Given the description of an element on the screen output the (x, y) to click on. 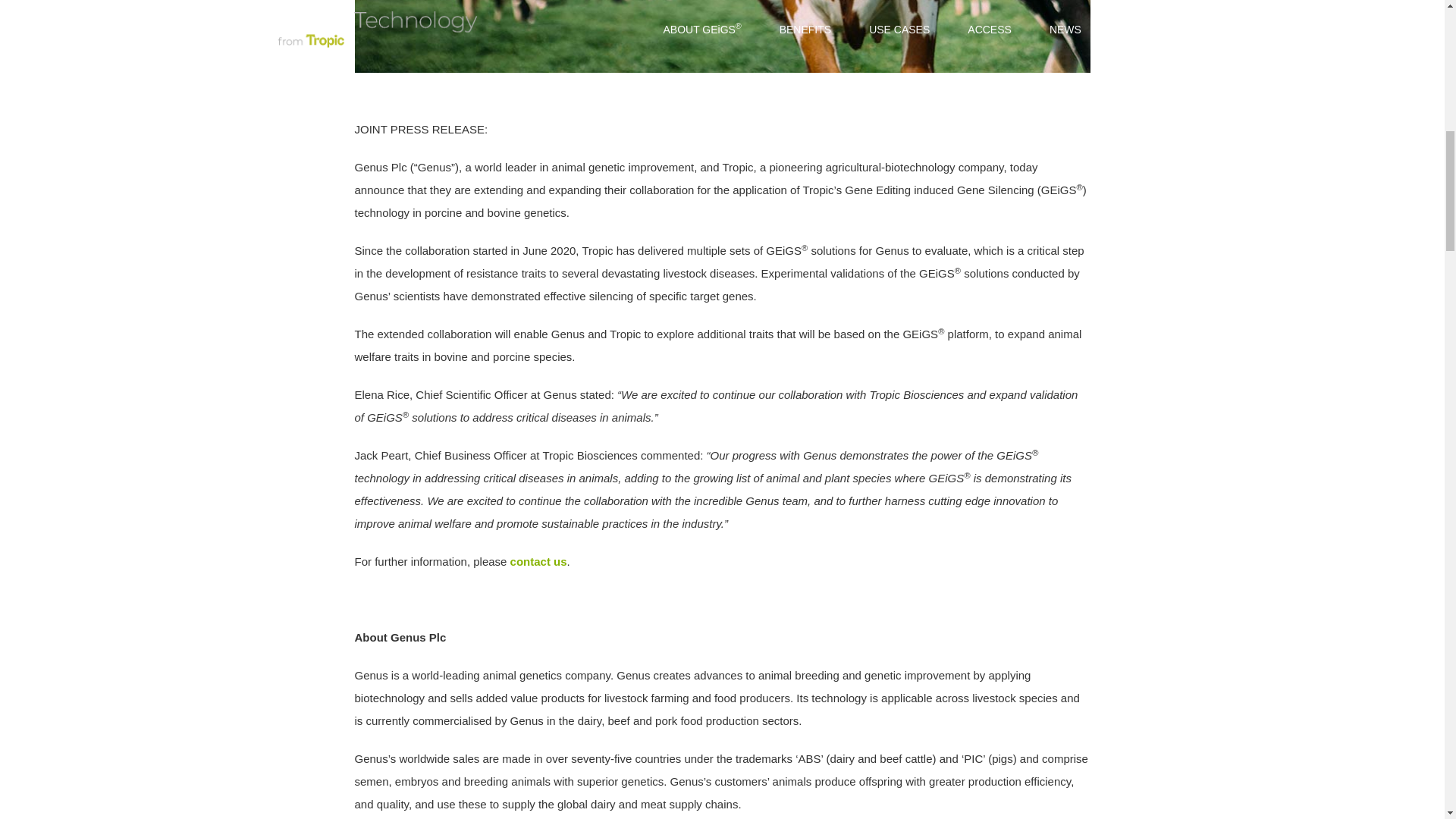
contact us (539, 561)
